Given the description of an element on the screen output the (x, y) to click on. 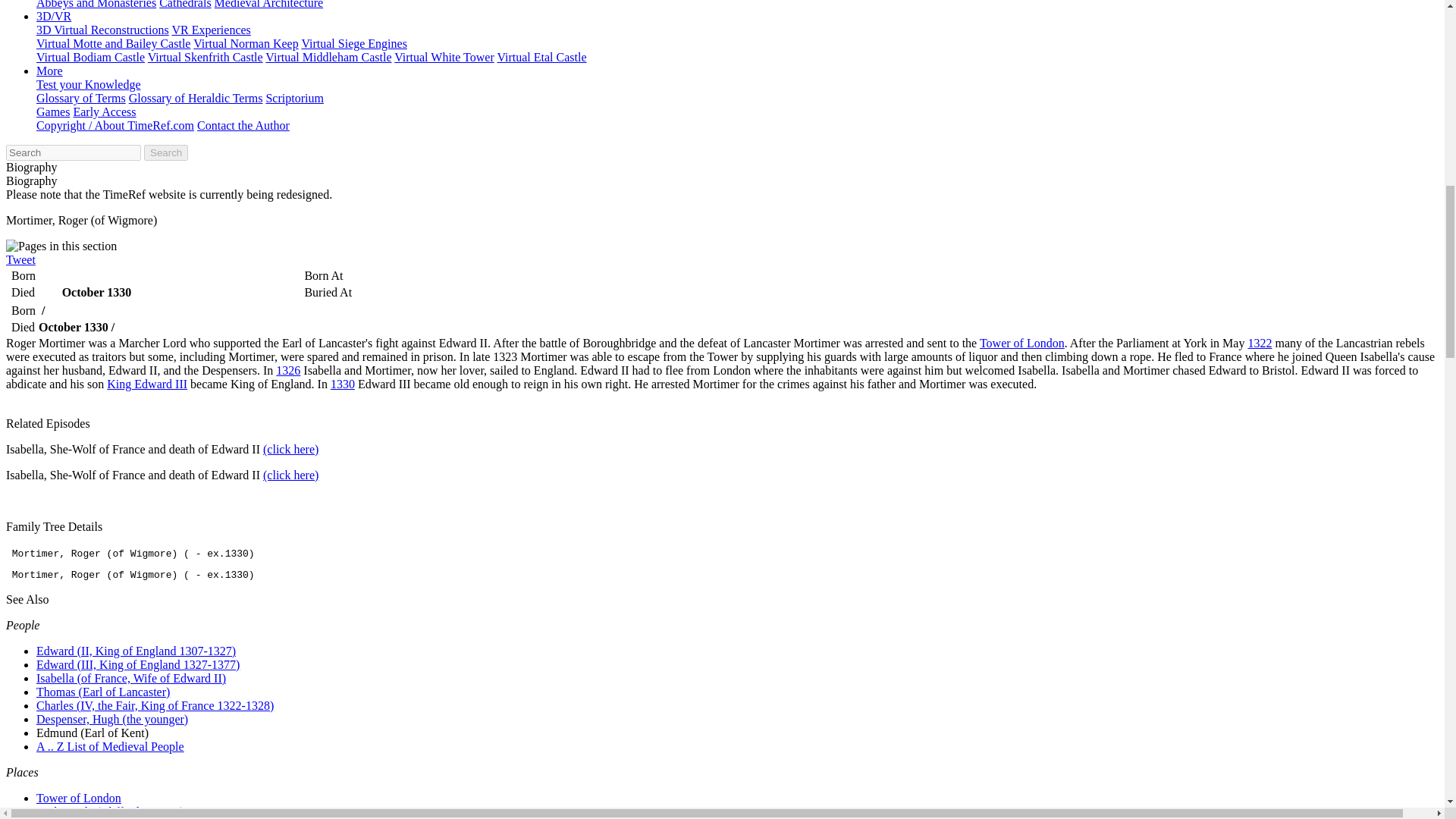
Pages in this section (60, 246)
